Given the description of an element on the screen output the (x, y) to click on. 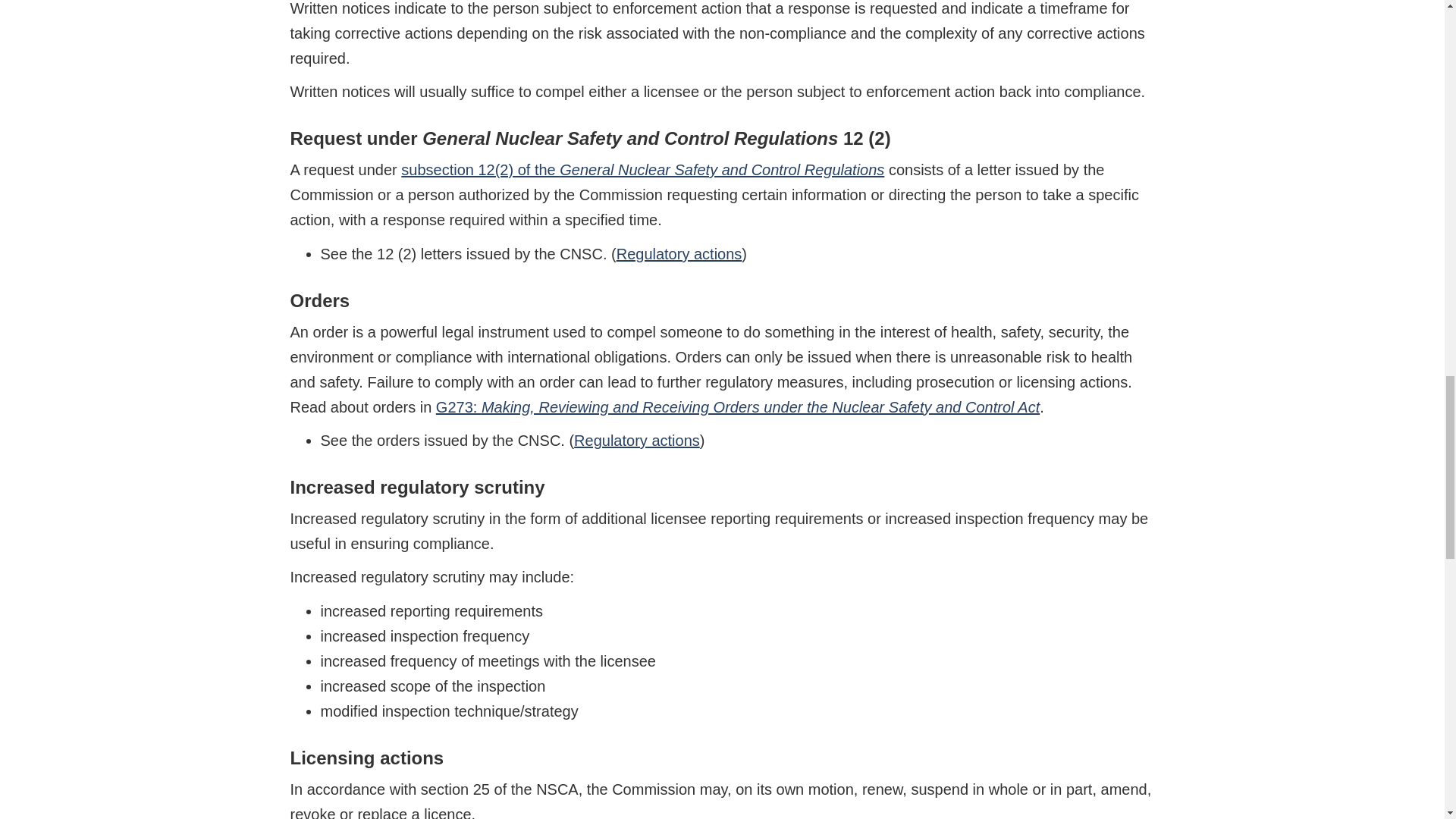
Regulatory actions (678, 253)
